Given the description of an element on the screen output the (x, y) to click on. 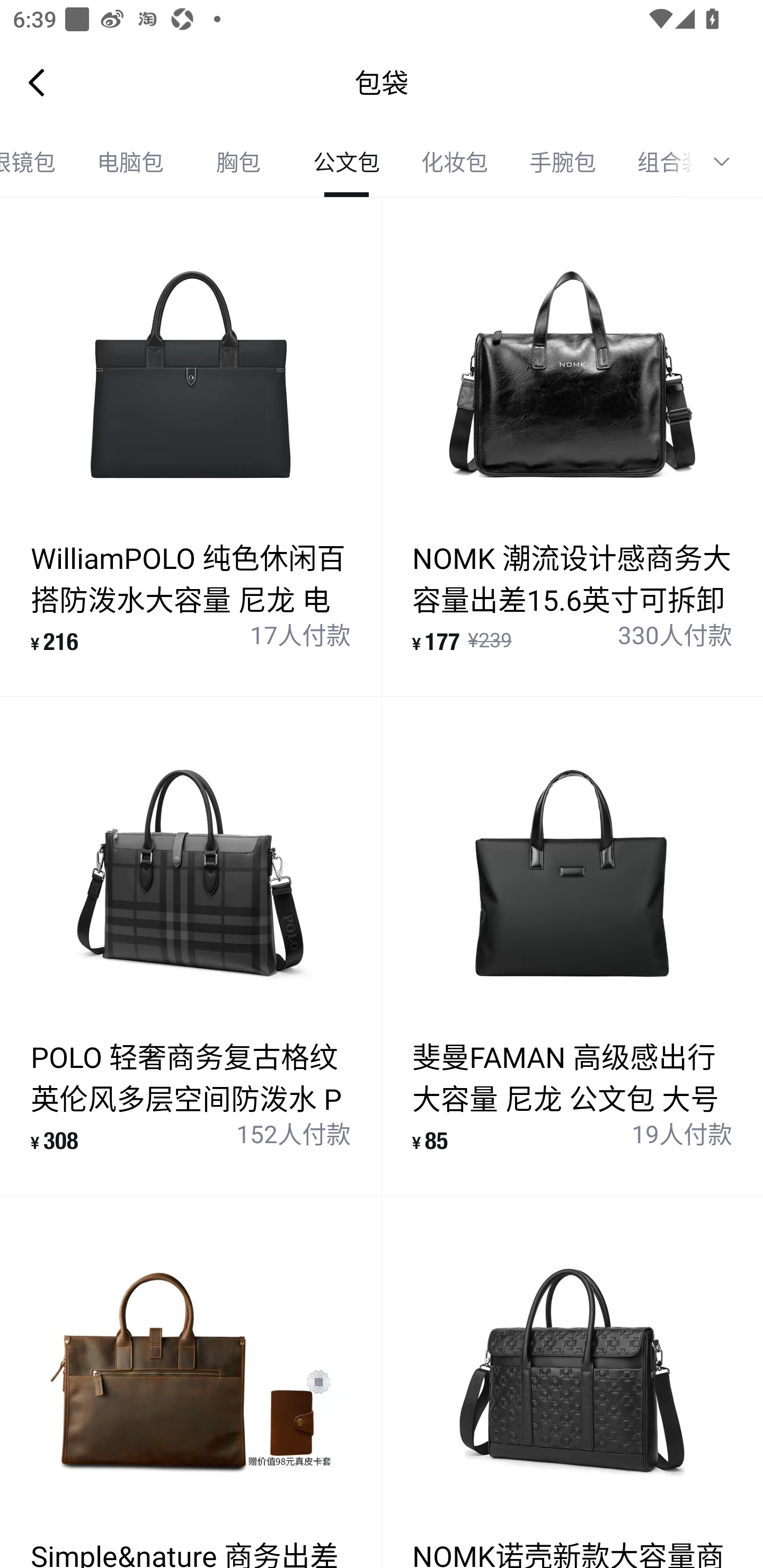
Navigate up (36, 82)
电脑包 (130, 162)
胸包 (238, 162)
公文包 (346, 162)
化妆包 (454, 162)
手腕包 (562, 162)
组合装 (654, 162)
 (727, 162)
斐曼FAMAN 高级感出行
大容量 尼龙 公文包 大号 
男款 黑色/蓝色 ¥ 85 19人付款 (572, 945)
Simple&nature 商务出差 
牛皮 手提包单肩包A4文
件包公文包 中号 男款 深
棕色 (190, 1381)
NOMK诺壳新款大容量商
务通勤头层牛皮电脑包手
提斜挎包公文包 大号 男
款 黑色 (572, 1381)
